Given the description of an element on the screen output the (x, y) to click on. 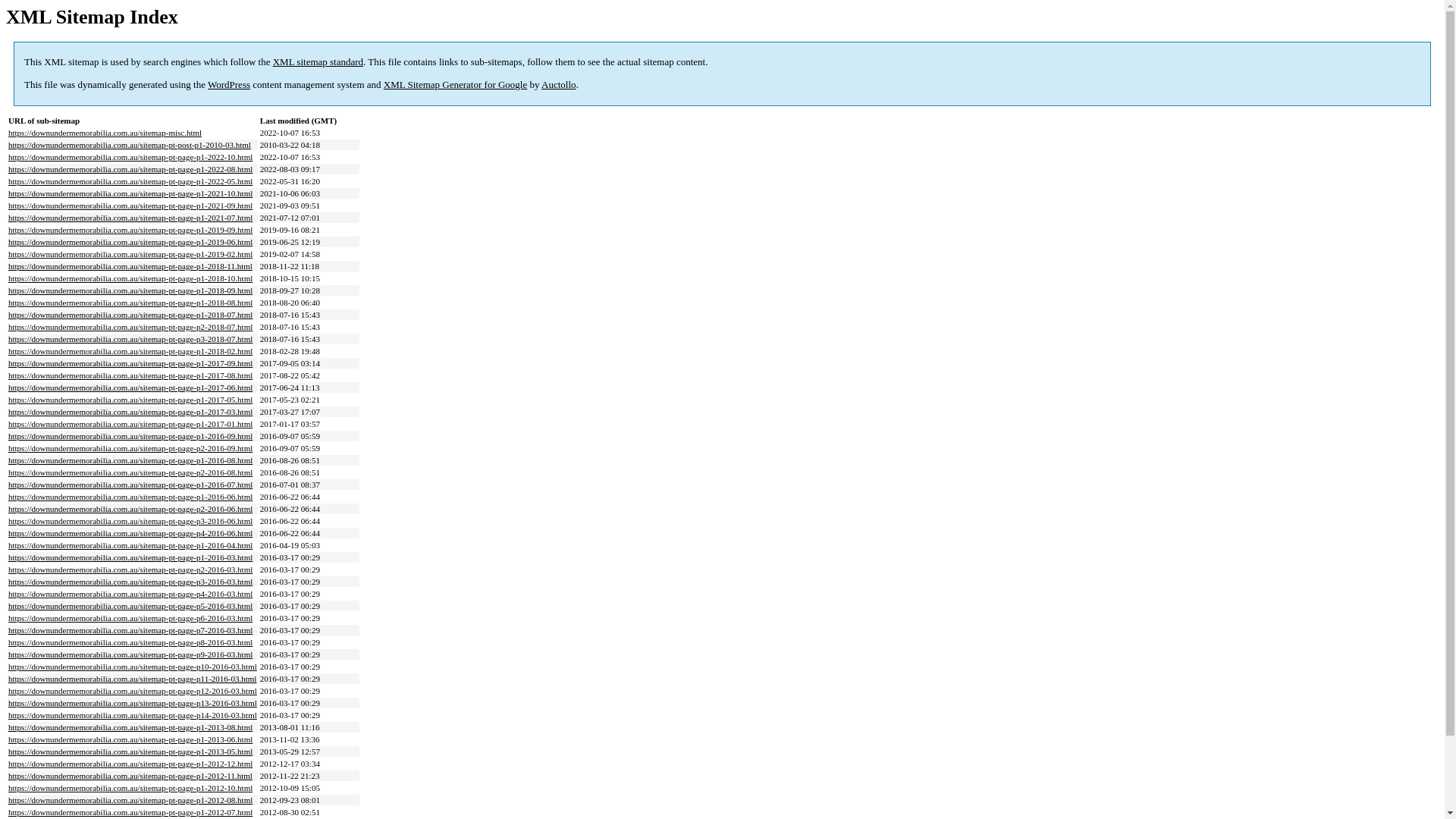
XML sitemap standard Element type: text (318, 61)
WordPress Element type: text (228, 84)
Auctollo Element type: text (558, 84)
XML Sitemap Generator for Google Element type: text (455, 84)
https://downundermemorabilia.com.au/sitemap-misc.html Element type: text (104, 132)
